Given the description of an element on the screen output the (x, y) to click on. 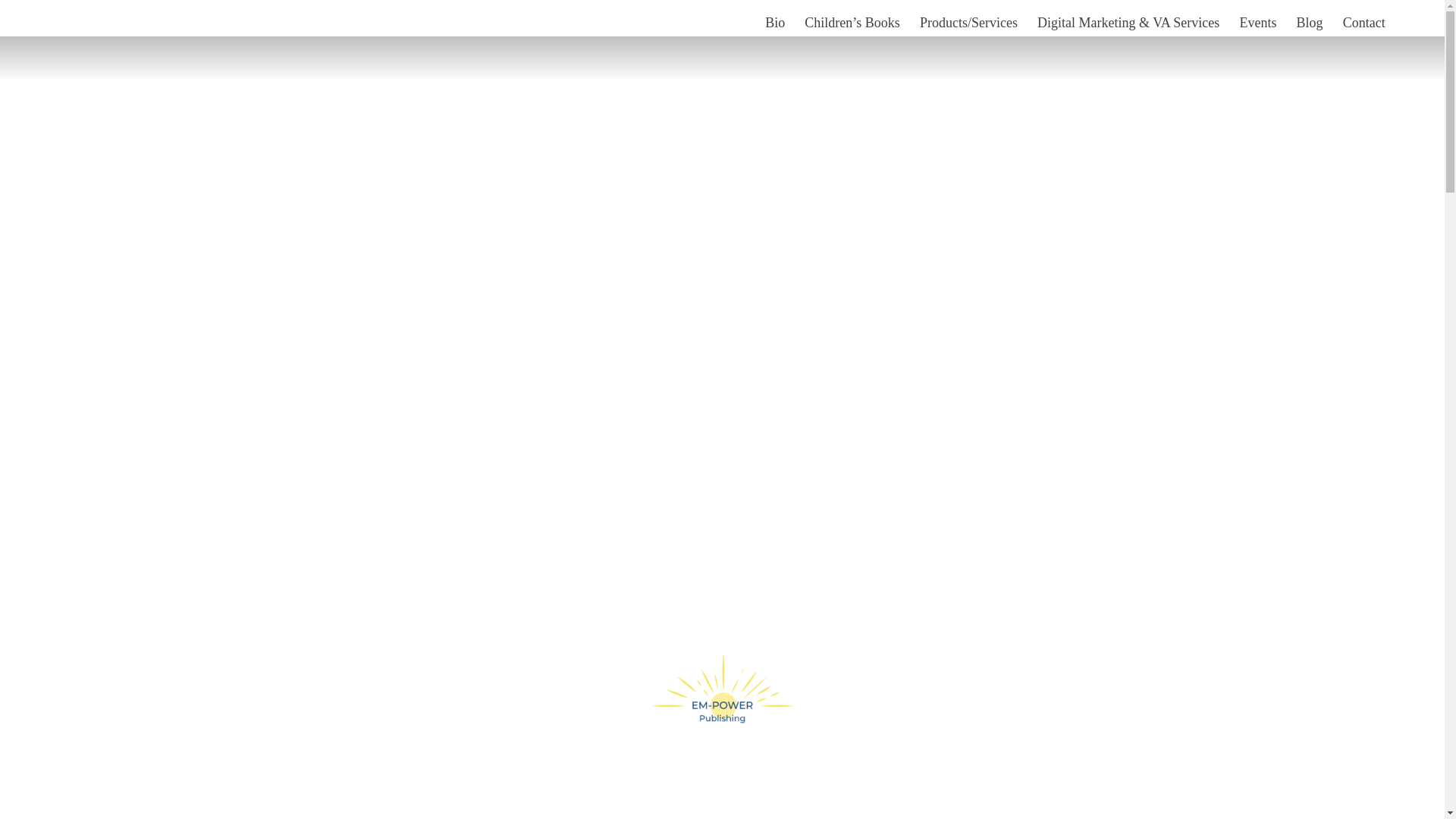
Bio (775, 23)
Contact (1364, 23)
Lisa Fontanella (70, 22)
Home (728, 23)
Events (1258, 23)
Blog (1310, 23)
Lisa Fontanella (70, 22)
